Given the description of an element on the screen output the (x, y) to click on. 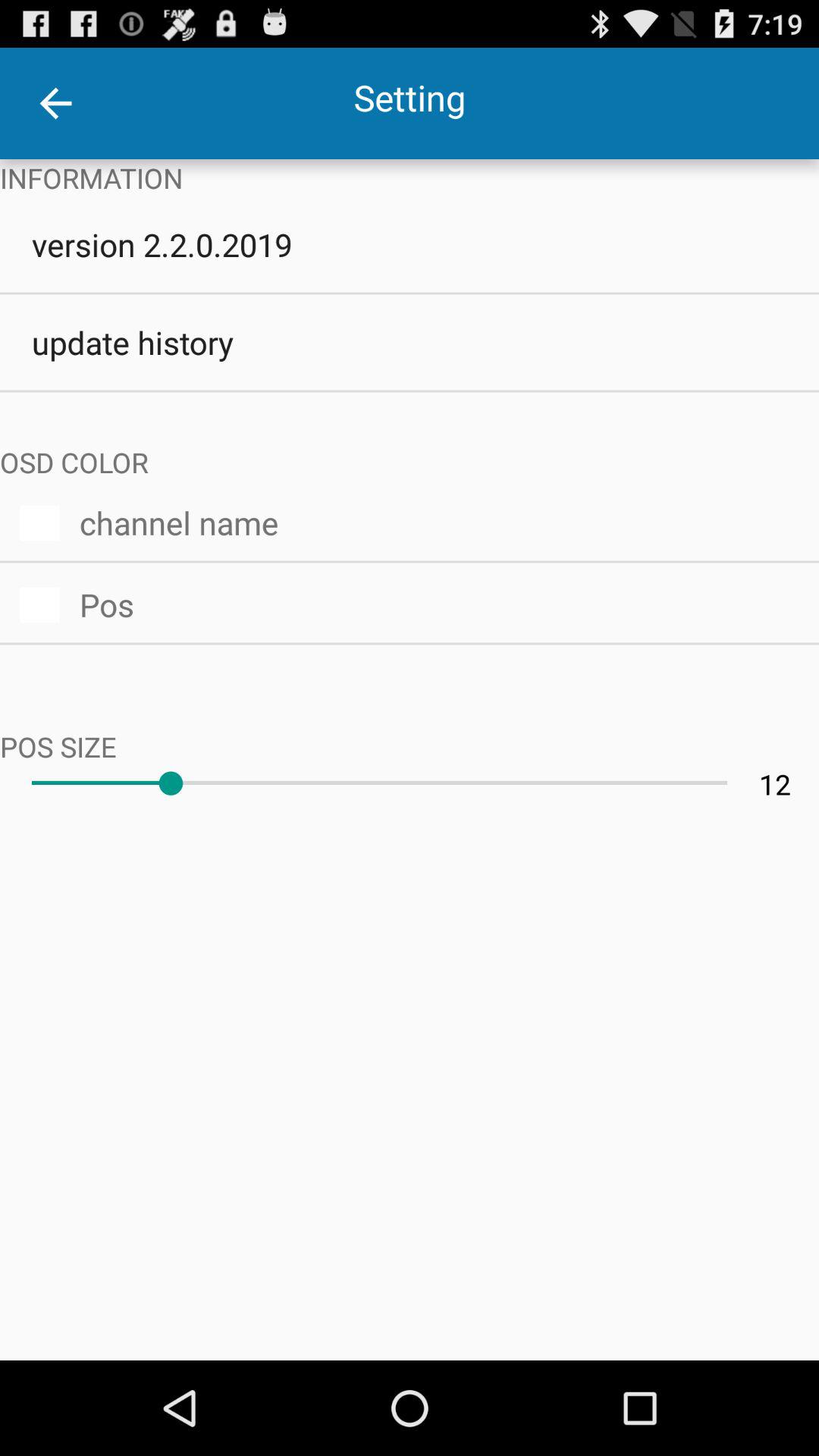
tap the item to the left of the setting (55, 103)
